Given the description of an element on the screen output the (x, y) to click on. 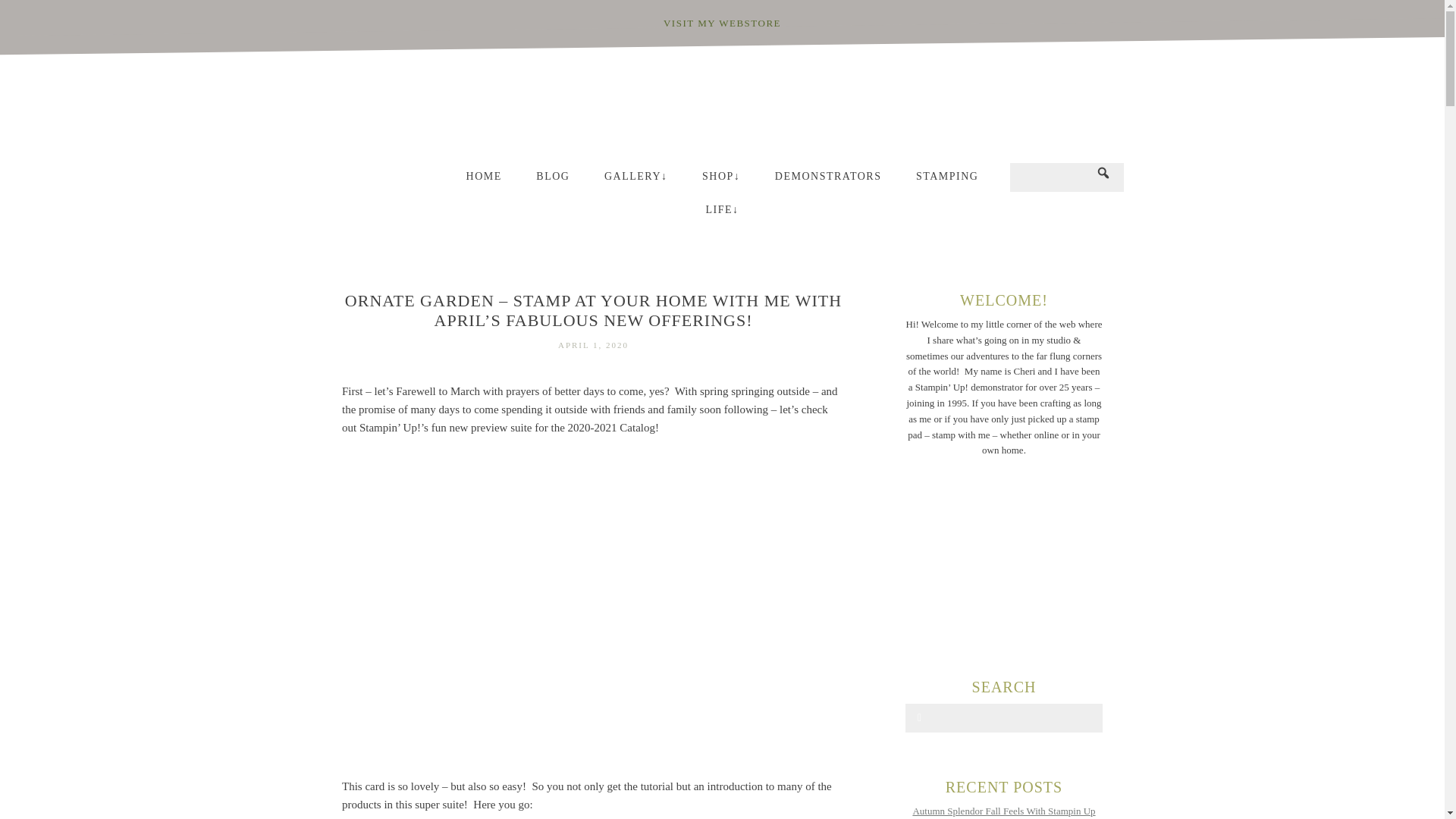
VISIT MY WEBSTORE (721, 22)
STAMPING (946, 180)
DEMONSTRATORS (828, 180)
BLOG (553, 180)
HOME (483, 180)
Search (42, 14)
CHERI'S CARDS (721, 107)
